Given the description of an element on the screen output the (x, y) to click on. 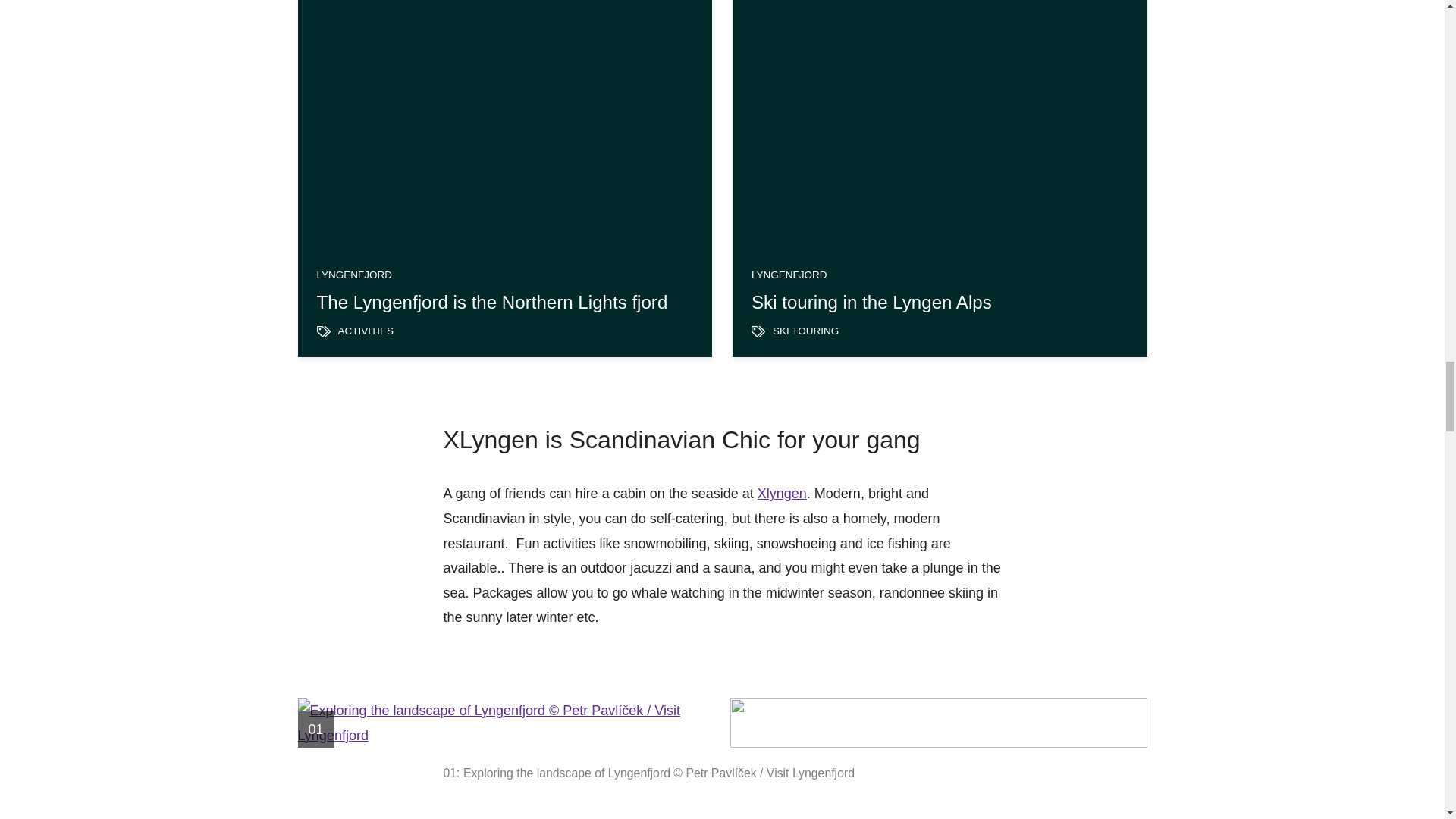
01 (505, 722)
Xlyngen (781, 493)
